Given the description of an element on the screen output the (x, y) to click on. 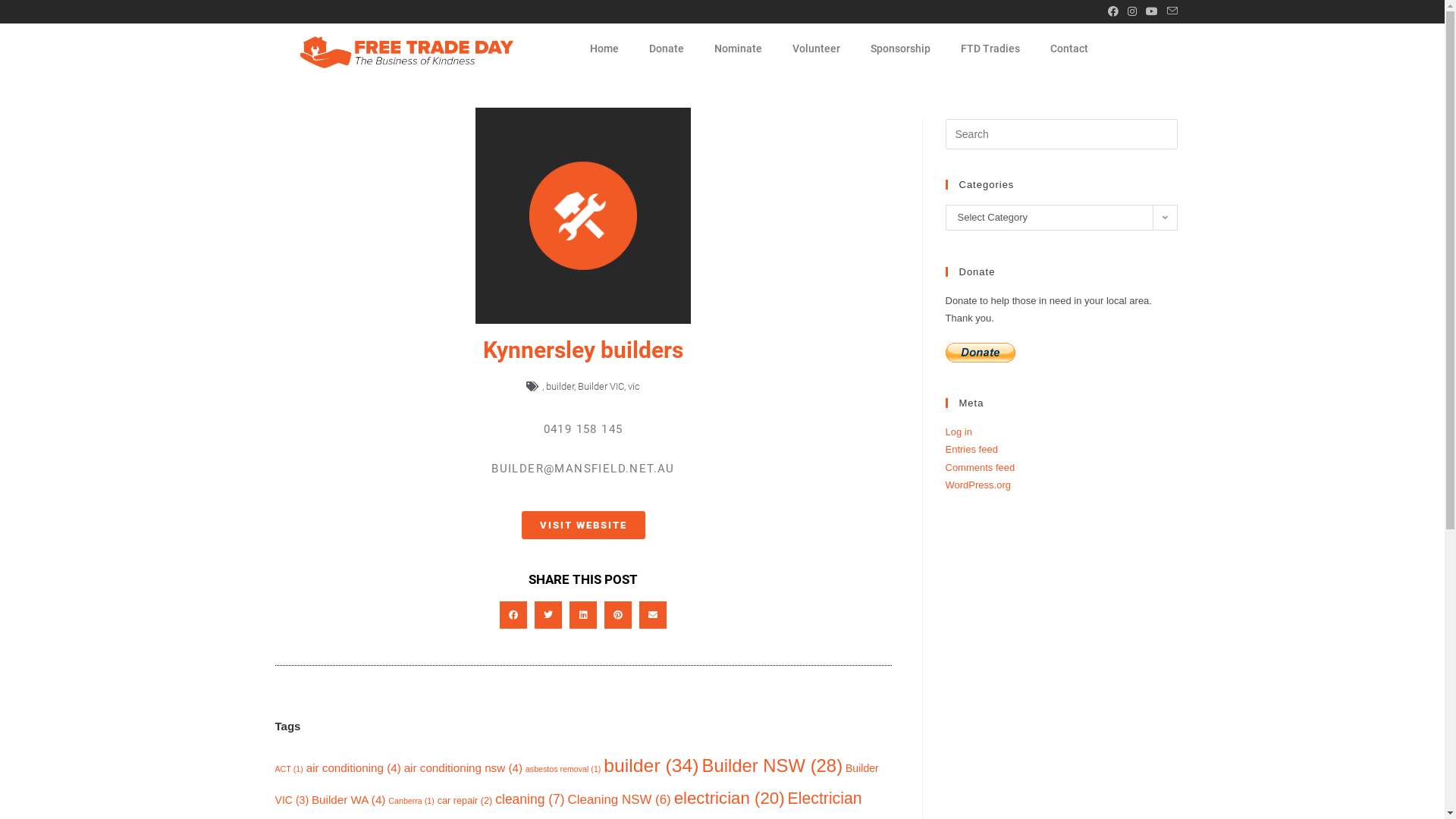
car repair (2) Element type: text (464, 800)
Comments feed Element type: text (979, 467)
Builder VIC Element type: text (600, 386)
Canberra (1) Element type: text (410, 800)
WordPress.org Element type: text (977, 484)
Volunteer Element type: text (816, 48)
Builder NSW (28) Element type: text (771, 765)
Builder WA (4) Element type: text (348, 799)
vic Element type: text (633, 386)
Sponsorship Element type: text (900, 48)
Entries feed Element type: text (970, 449)
Home Element type: text (603, 48)
Builder VIC (3) Element type: text (576, 784)
air conditioning nsw (4) Element type: text (463, 767)
VISIT WEBSITE Element type: text (583, 525)
Nominate Element type: text (738, 48)
Cleaning NSW (6) Element type: text (619, 799)
Contact Element type: text (1069, 48)
Donate Element type: text (666, 48)
air conditioning (4) Element type: text (353, 767)
electrician (20) Element type: text (729, 797)
cleaning (7) Element type: text (529, 798)
builder Element type: text (560, 386)
ACT (1) Element type: text (288, 768)
builder (34) Element type: text (650, 765)
asbestos removal (1) Element type: text (563, 768)
FTD Tradies Element type: text (990, 48)
Log in Element type: text (957, 431)
